Given the description of an element on the screen output the (x, y) to click on. 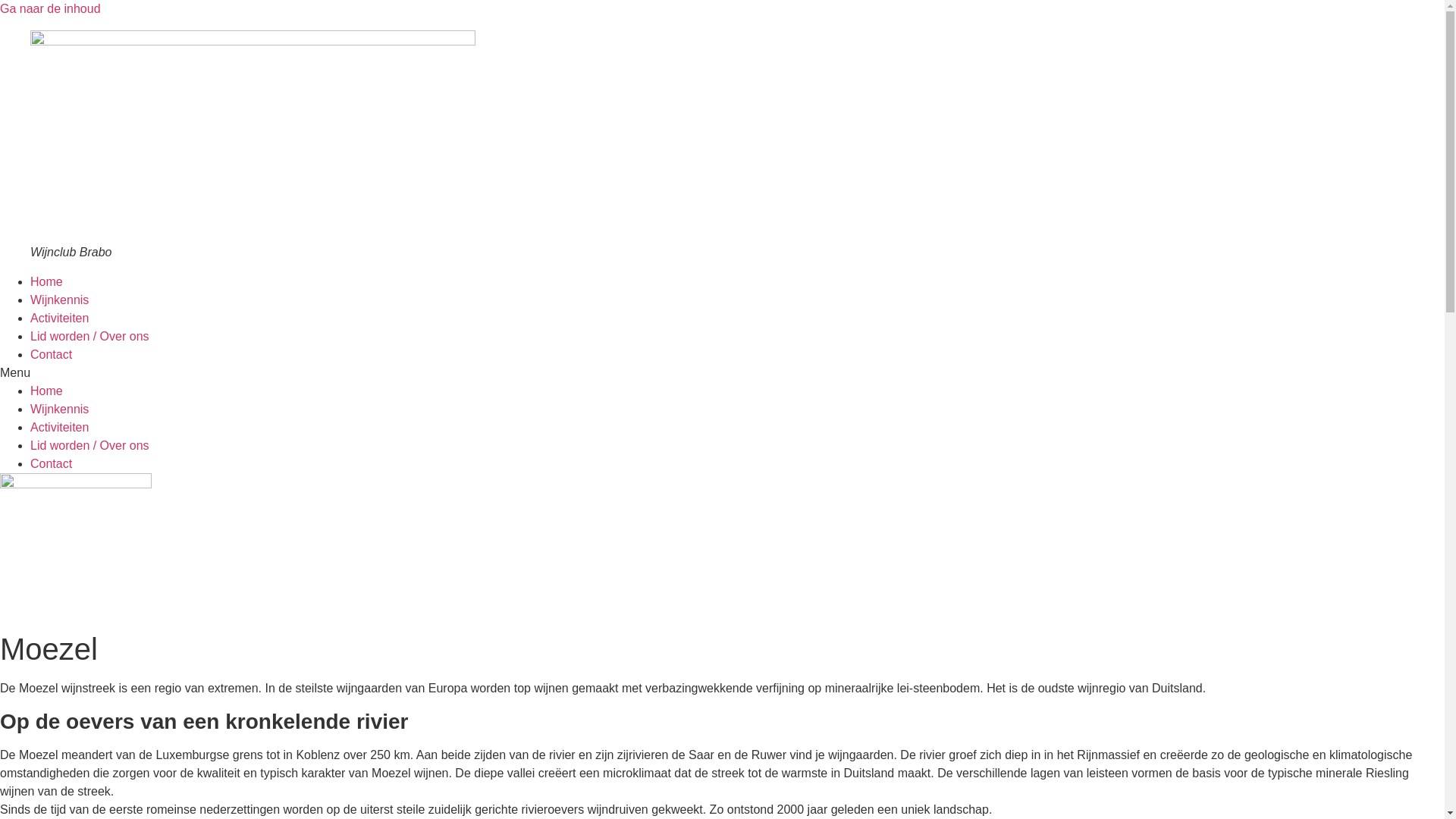
Home Element type: text (46, 281)
Lid worden / Over ons Element type: text (89, 445)
Lid worden / Over ons Element type: text (89, 335)
Contact Element type: text (51, 354)
Wijnkennis Element type: text (59, 299)
Ga naar de inhoud Element type: text (50, 8)
Activiteiten Element type: text (59, 317)
Contact Element type: text (51, 463)
Home Element type: text (46, 390)
Activiteiten Element type: text (59, 426)
Wijnkennis Element type: text (59, 408)
